Given the description of an element on the screen output the (x, y) to click on. 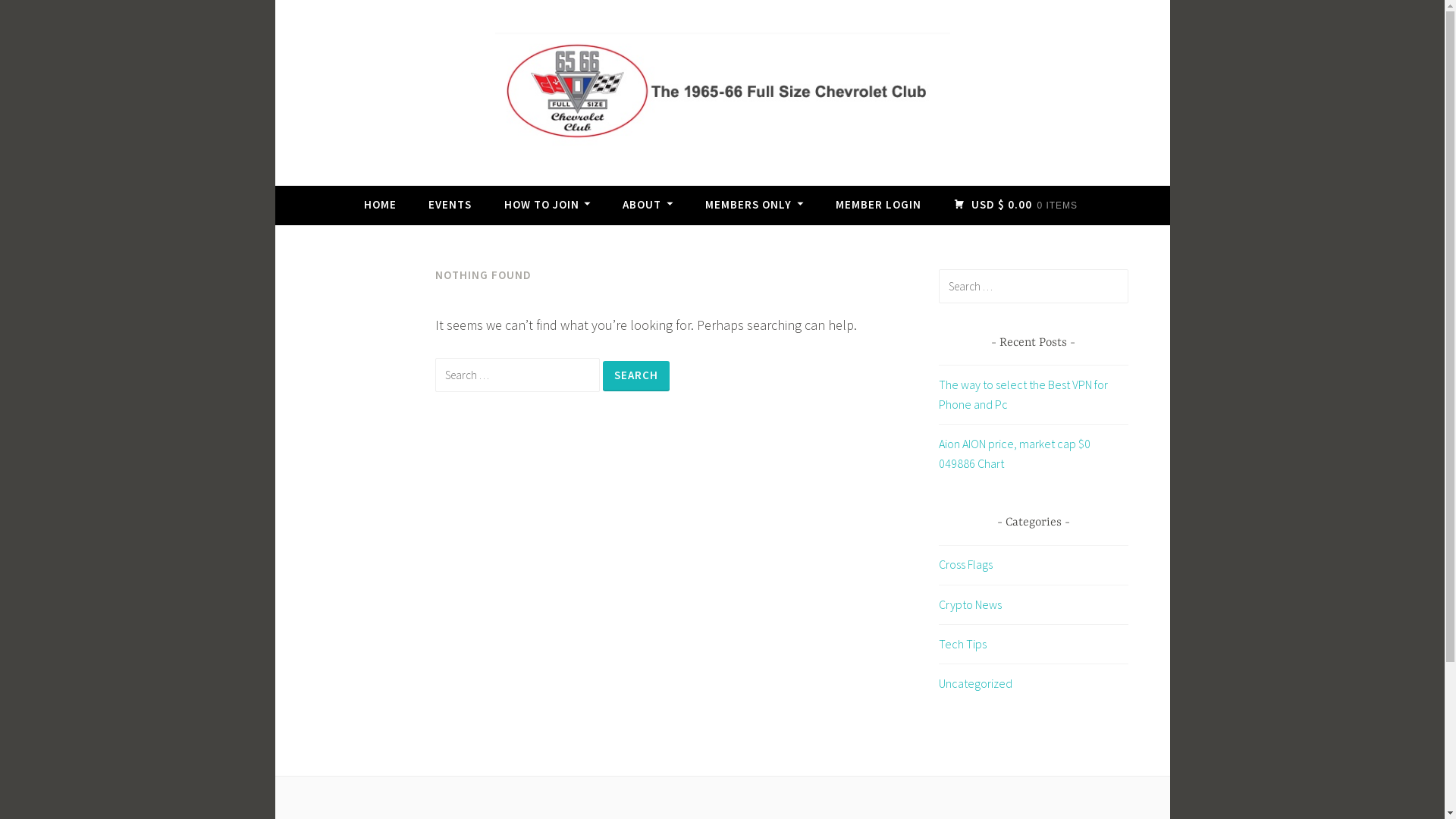
Crypto News Element type: text (969, 603)
Tech Tips Element type: text (962, 643)
The way to select the Best VPN for Phone and Pc Element type: text (1022, 393)
Cross Flags Element type: text (965, 563)
EVENTS Element type: text (449, 204)
MEMBERS ONLY Element type: text (754, 204)
Aion AION price, market cap $0 049886 Chart Element type: text (1014, 453)
Search Element type: text (33, 15)
HOW TO JOIN Element type: text (547, 204)
1965-66 Full Size Chevrolet Club Element type: text (538, 179)
HOME Element type: text (380, 204)
USD $ 0.00 0 ITEMS Element type: text (1015, 204)
ABOUT Element type: text (647, 204)
Search Element type: text (635, 375)
MEMBER LOGIN Element type: text (878, 204)
Uncategorized Element type: text (975, 682)
